Given the description of an element on the screen output the (x, y) to click on. 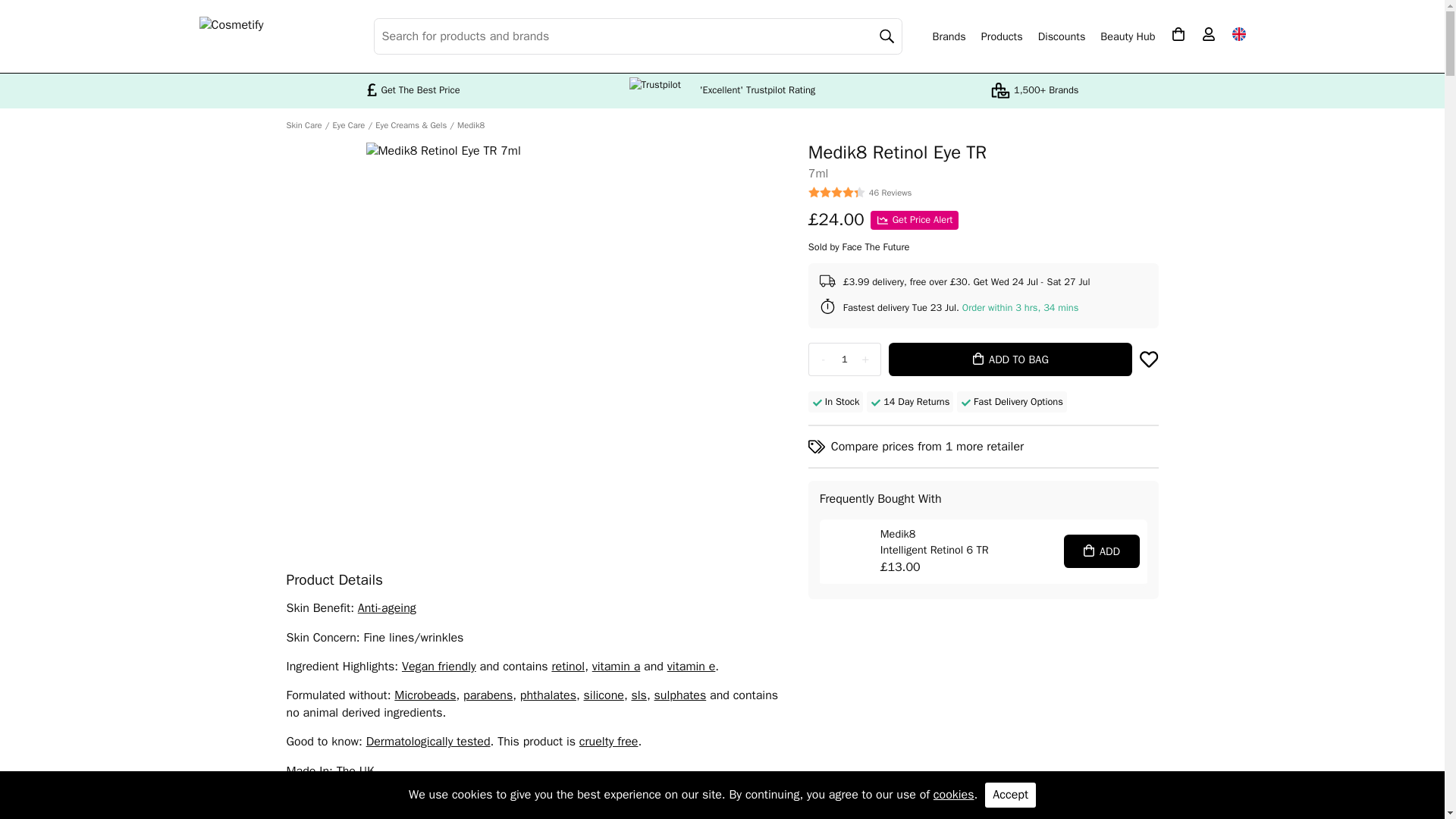
Products (1002, 36)
Beauty Hub (1127, 36)
Discounts (1062, 36)
cookies (953, 794)
Brands (949, 36)
Accept (1010, 794)
